Given the description of an element on the screen output the (x, y) to click on. 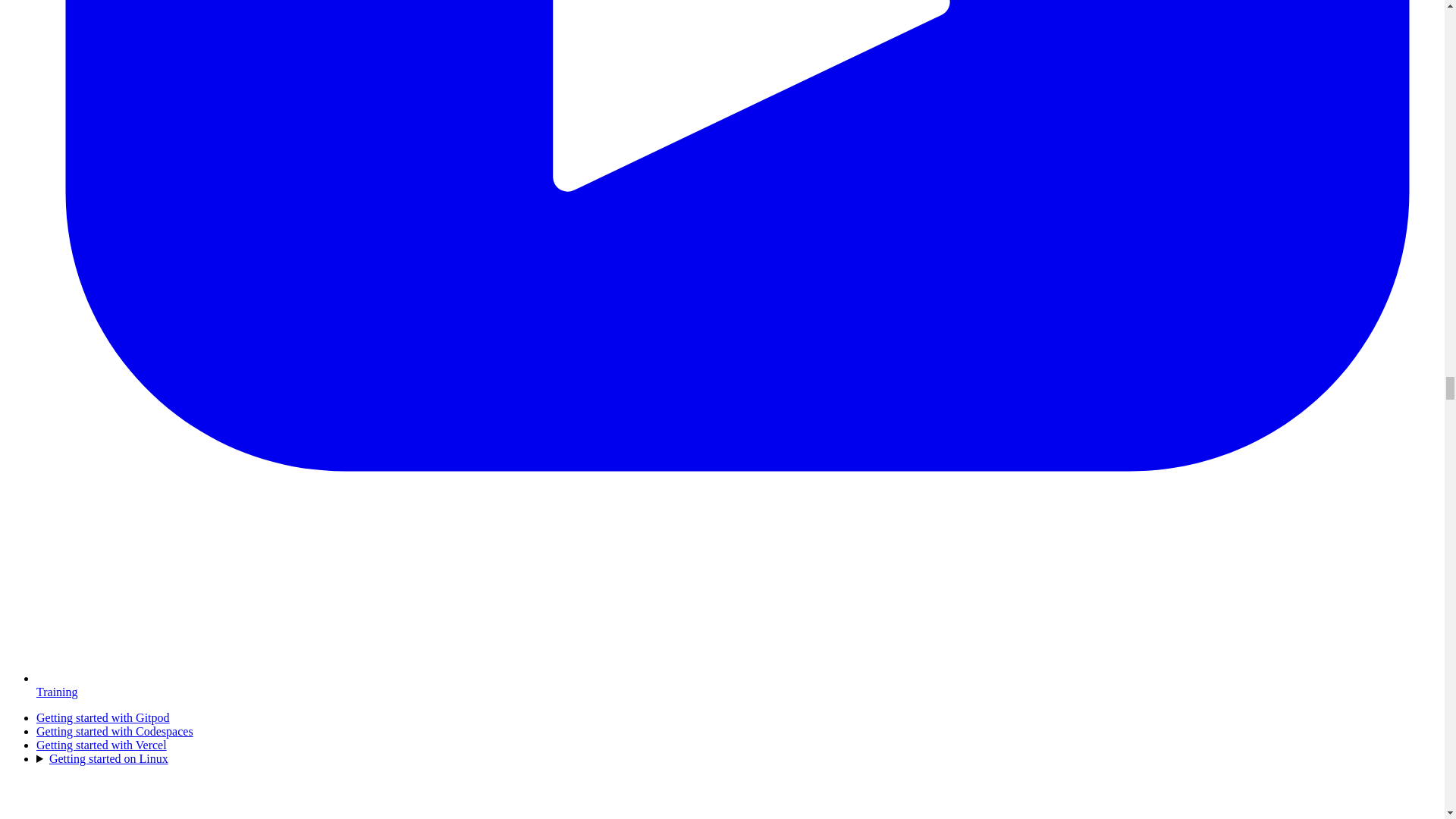
Getting started on Linux (108, 758)
Getting started with Codespaces (114, 730)
Getting started with Vercel (101, 744)
Getting started with Gitpod (103, 717)
